Given the description of an element on the screen output the (x, y) to click on. 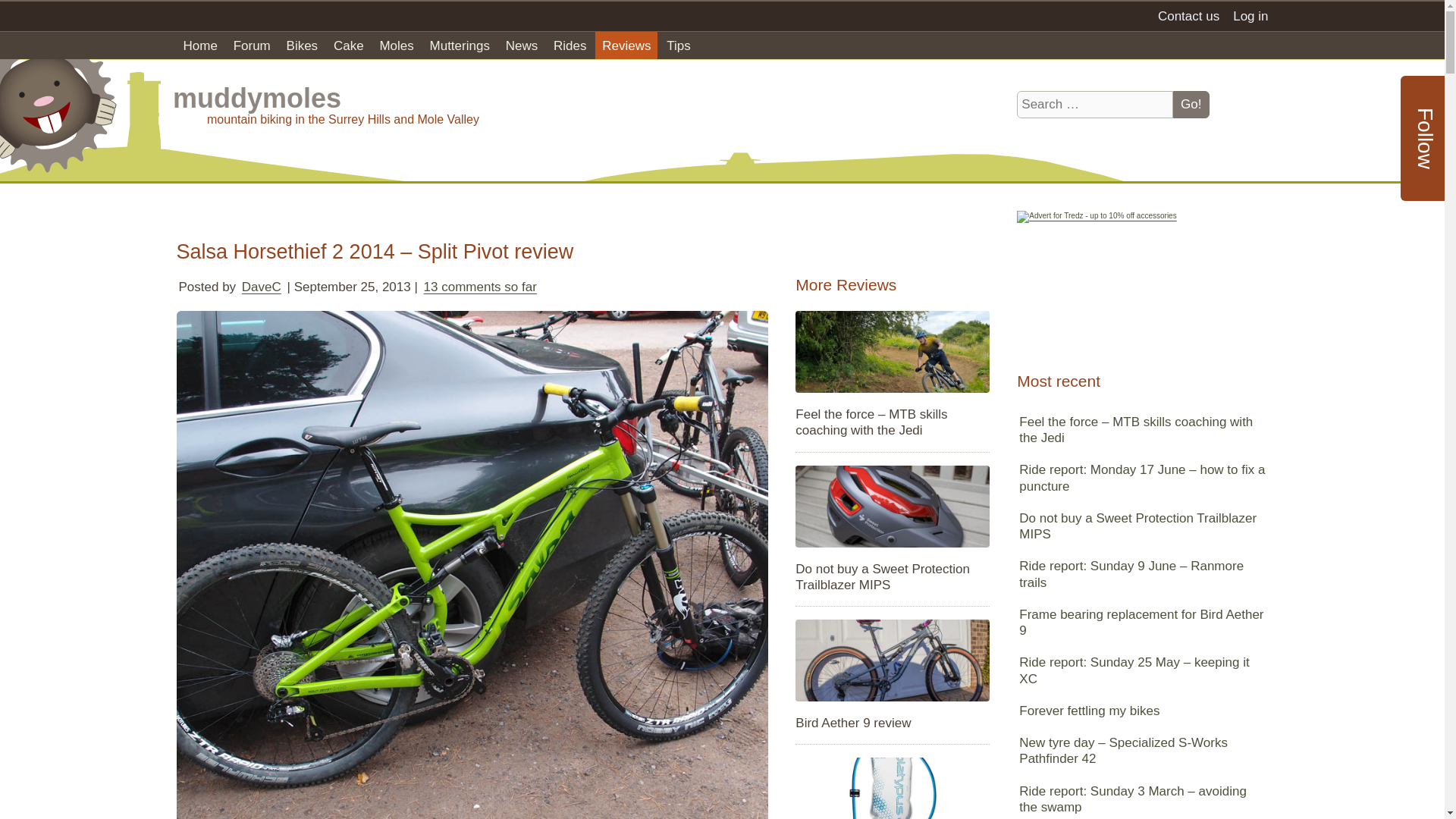
Home (200, 44)
Read 'Do not buy a Sweet Protection Trailblazer MIPS' (892, 577)
Contact us (1188, 16)
Forum (252, 44)
Cake (348, 44)
Mutterings (459, 44)
Read 'Bird Aether 9 review' (892, 722)
News (521, 44)
Moles (396, 44)
Bikes (301, 44)
Log in (1250, 16)
View all posts by DaveC (261, 287)
